Given the description of an element on the screen output the (x, y) to click on. 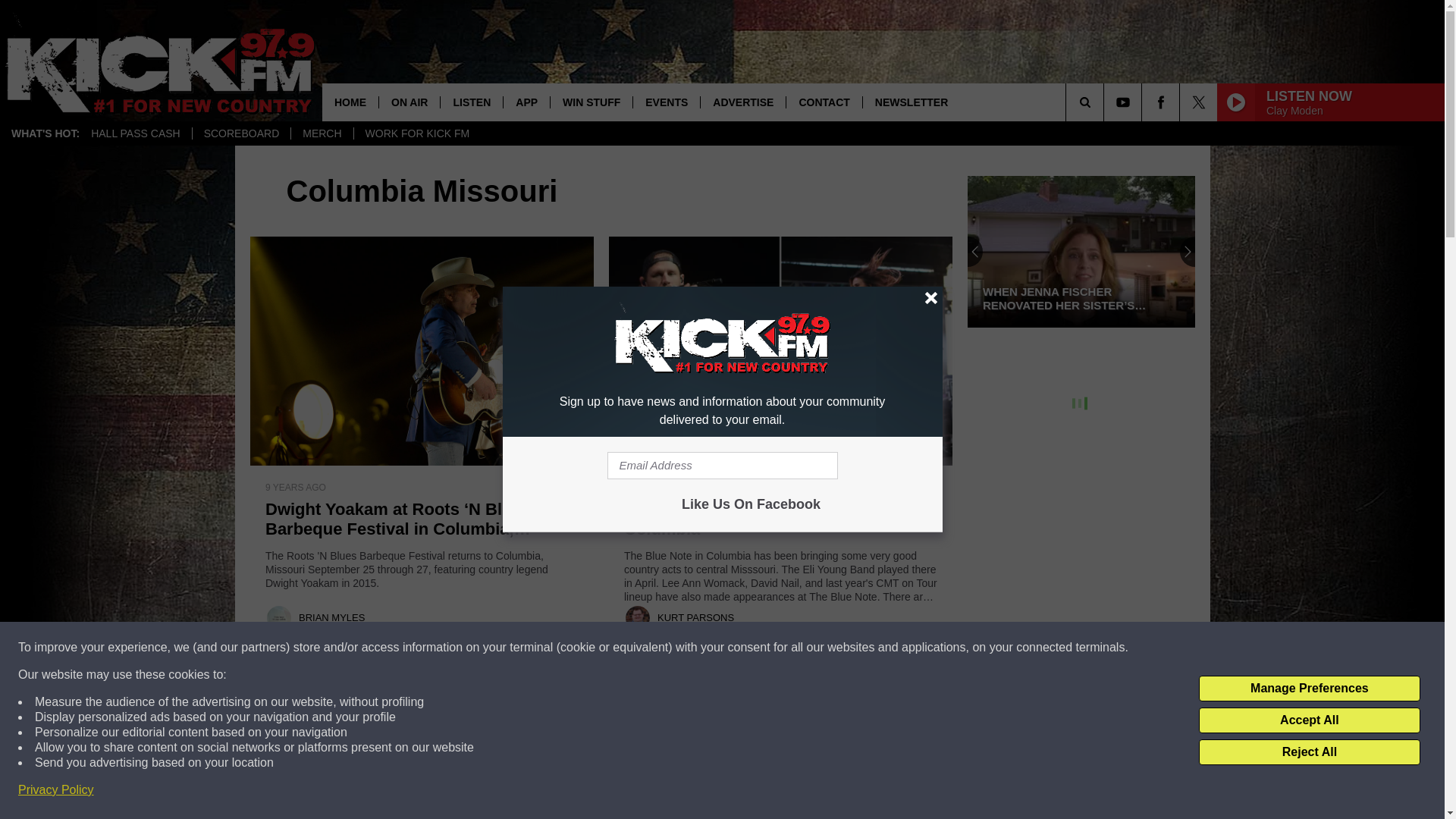
LISTEN (470, 102)
Email Address (722, 465)
ON AIR (408, 102)
ADVERTISE (743, 102)
WIN STUFF (590, 102)
HALL PASS CASH (136, 133)
HOME (349, 102)
Reject All (1309, 751)
SCOREBOARD (241, 133)
Accept All (1309, 720)
Manage Preferences (1309, 688)
EVENTS (665, 102)
SEARCH (1106, 102)
SEARCH (1106, 102)
WORK FOR KICK FM (417, 133)
